Given the description of an element on the screen output the (x, y) to click on. 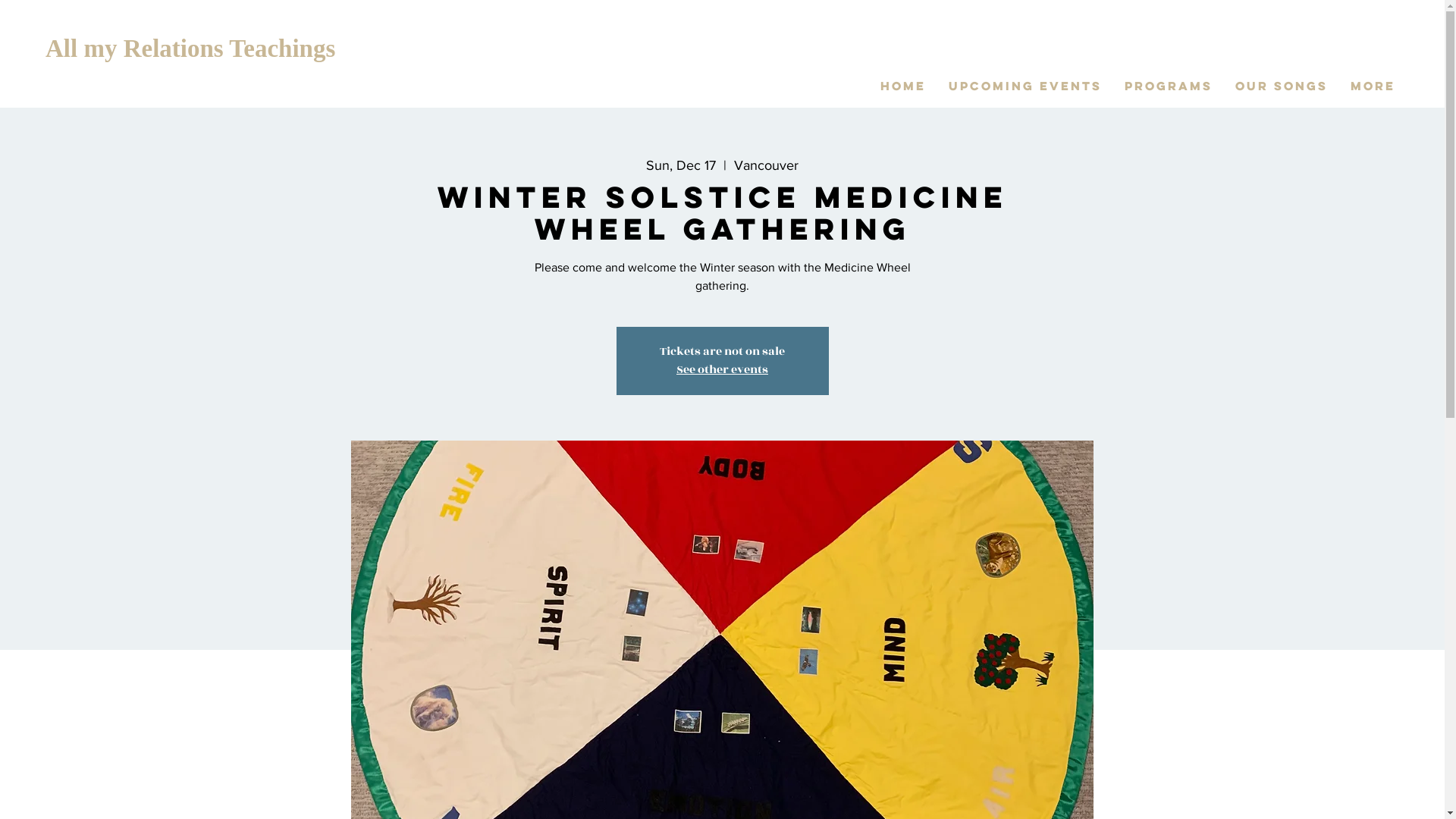
Our Songs Element type: text (1281, 85)
All my Relations Teachings Element type: text (190, 48)
Upcoming Events Element type: text (1025, 85)
See other events Element type: text (722, 369)
Home Element type: text (903, 85)
Programs Element type: text (1168, 85)
